Given the description of an element on the screen output the (x, y) to click on. 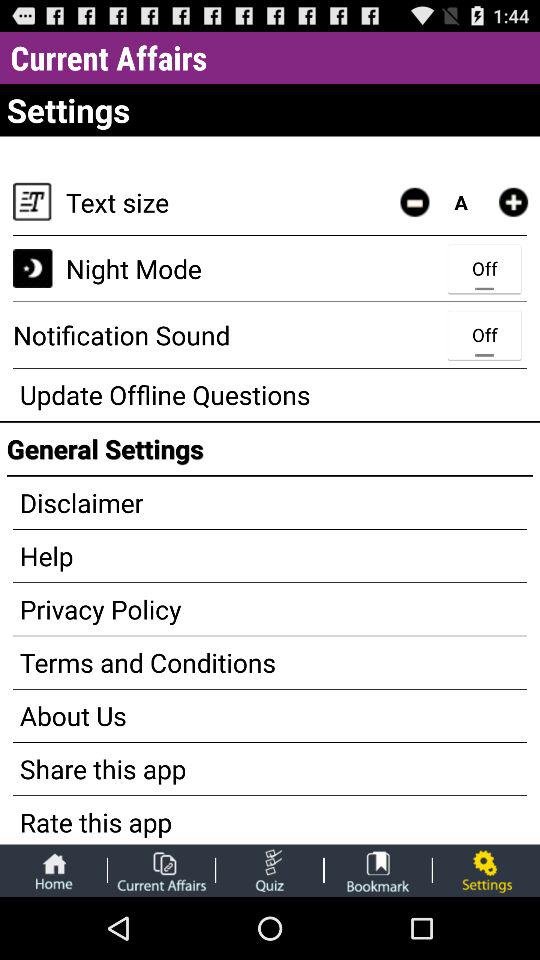
shows bookmarked items (378, 870)
